Given the description of an element on the screen output the (x, y) to click on. 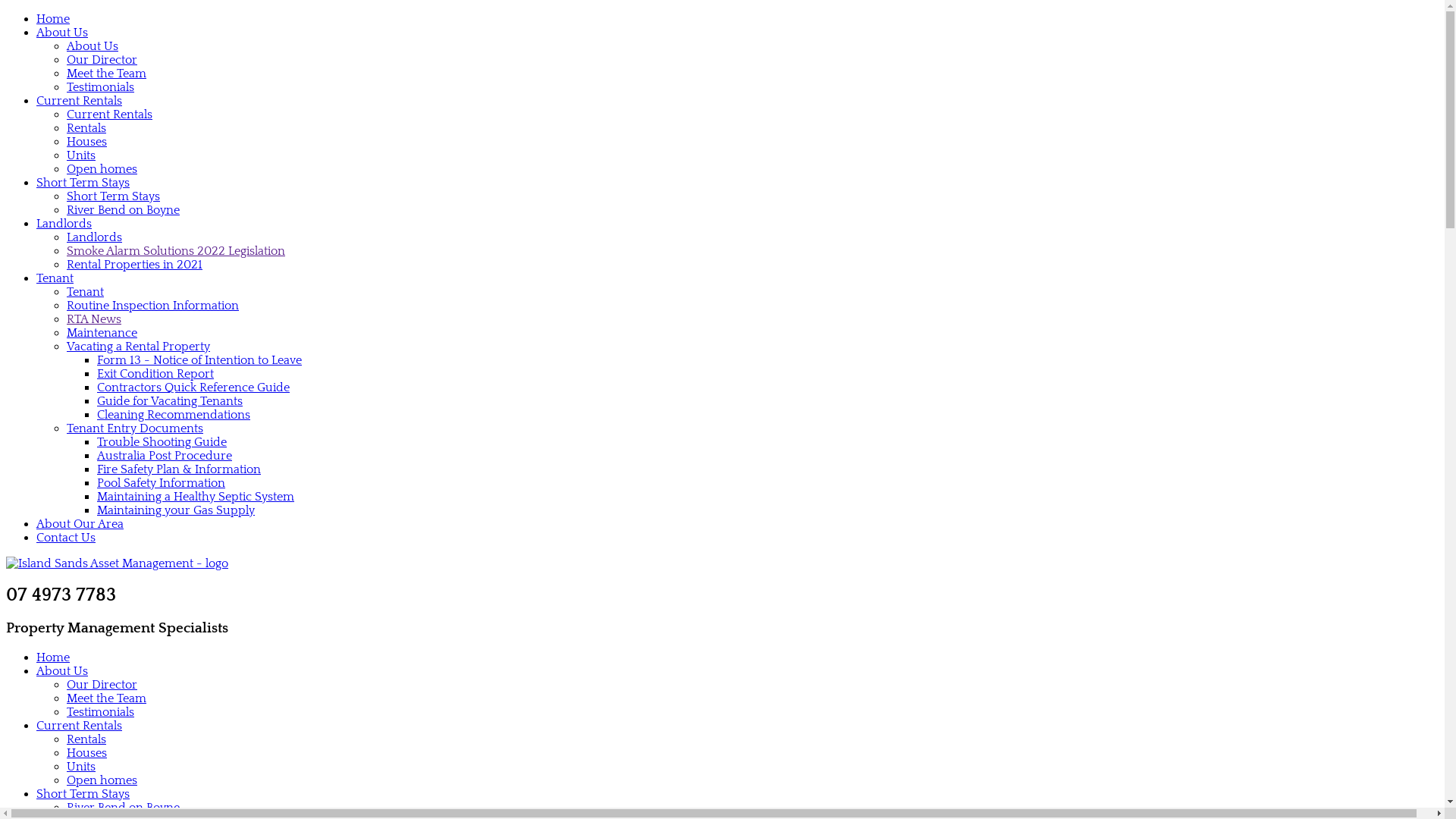
Short Term Stays Element type: text (82, 793)
Contact Us Element type: text (65, 537)
Home Element type: text (52, 18)
Vacating a Rental Property Element type: text (138, 346)
Testimonials Element type: text (100, 711)
Houses Element type: text (86, 752)
Island Sands Asset Management Element type: hover (117, 563)
Testimonials Element type: text (100, 87)
Exit Condition Report Element type: text (155, 373)
Smoke Alarm Solutions 2022 Legislation Element type: text (175, 250)
Rental Properties in 2021 Element type: text (134, 264)
Maintaining a Healthy Septic System Element type: text (195, 496)
Units Element type: text (80, 155)
Open homes Element type: text (101, 168)
Cleaning Recommendations Element type: text (173, 414)
RTA News Element type: text (93, 319)
About Us Element type: text (61, 32)
About Our Area Element type: text (79, 523)
Short Term Stays Element type: text (113, 196)
Meet the Team Element type: text (106, 698)
Our Director Element type: text (101, 59)
Current Rentals Element type: text (109, 114)
Our Director Element type: text (101, 684)
Home Element type: text (52, 657)
Open homes Element type: text (101, 780)
Form 13 - Notice of Intention to Leave Element type: text (199, 360)
Maintaining your Gas Supply Element type: text (175, 510)
River Bend on Boyne Element type: text (122, 209)
Units Element type: text (80, 766)
Landlords Element type: text (94, 237)
Trouble Shooting Guide Element type: text (161, 441)
About Us Element type: text (92, 46)
Fire Safety Plan & Information Element type: text (178, 469)
River Bend on Boyne Element type: text (122, 807)
Rentals Element type: text (86, 739)
Maintenance Element type: text (101, 332)
Current Rentals Element type: text (79, 725)
Guide for Vacating Tenants Element type: text (169, 400)
Houses Element type: text (86, 141)
Short Term Stays Element type: text (82, 182)
Routine Inspection Information Element type: text (152, 305)
Tenant Element type: text (84, 291)
Contractors Quick Reference Guide Element type: text (193, 387)
Landlords Element type: text (63, 223)
Rentals Element type: text (86, 127)
Tenant Element type: text (54, 278)
Meet the Team Element type: text (106, 73)
Australia Post Procedure Element type: text (164, 455)
Tenant Entry Documents Element type: text (134, 428)
Current Rentals Element type: text (79, 100)
About Us Element type: text (61, 670)
Pool Safety Information Element type: text (161, 482)
